Given the description of an element on the screen output the (x, y) to click on. 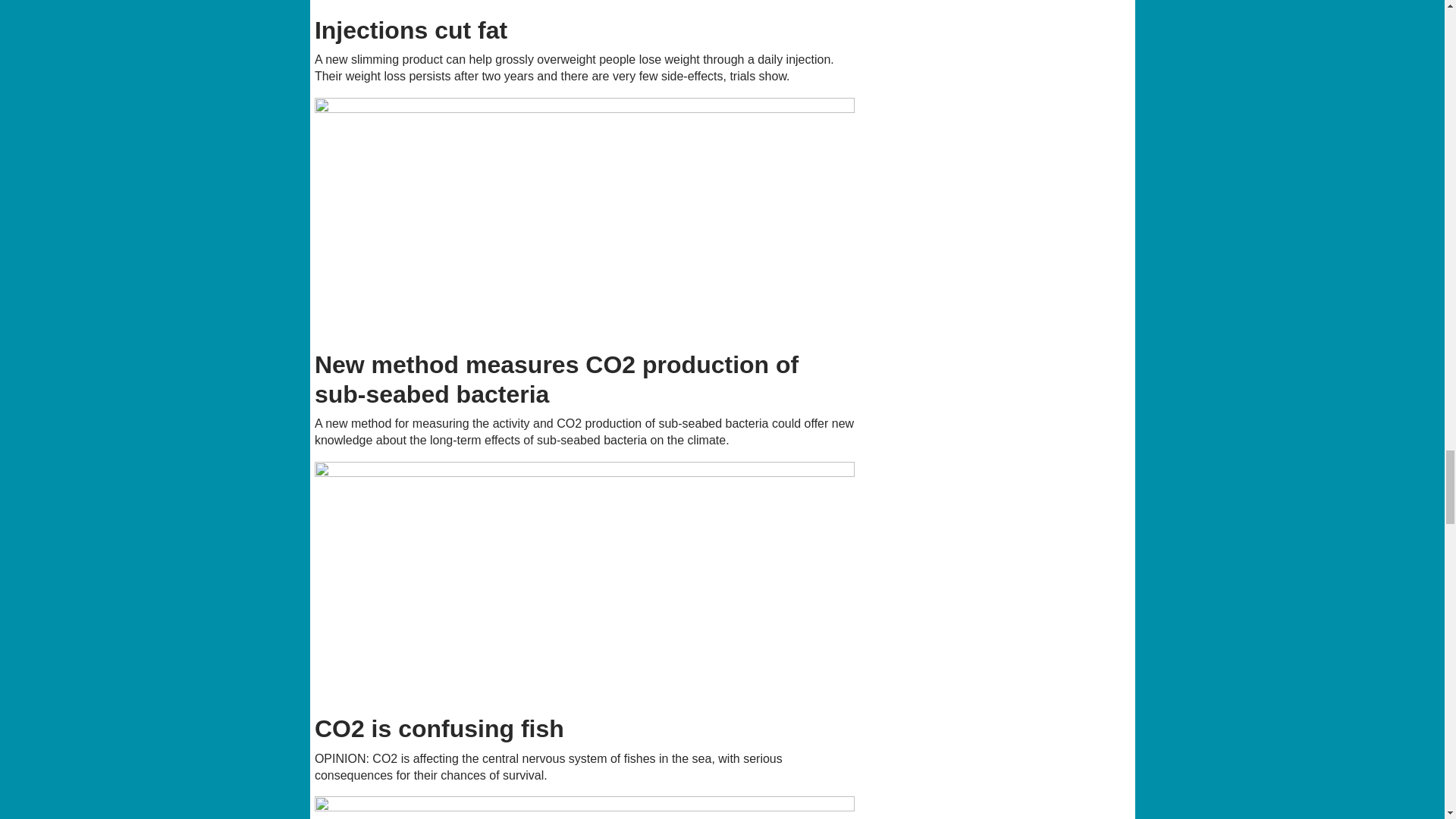
New method measures CO2 production of sub-seabed bacteria (585, 219)
CO2 is confusing fish (585, 583)
Disappointed scientists: damn, kangaroos fart methane (585, 807)
